Given the description of an element on the screen output the (x, y) to click on. 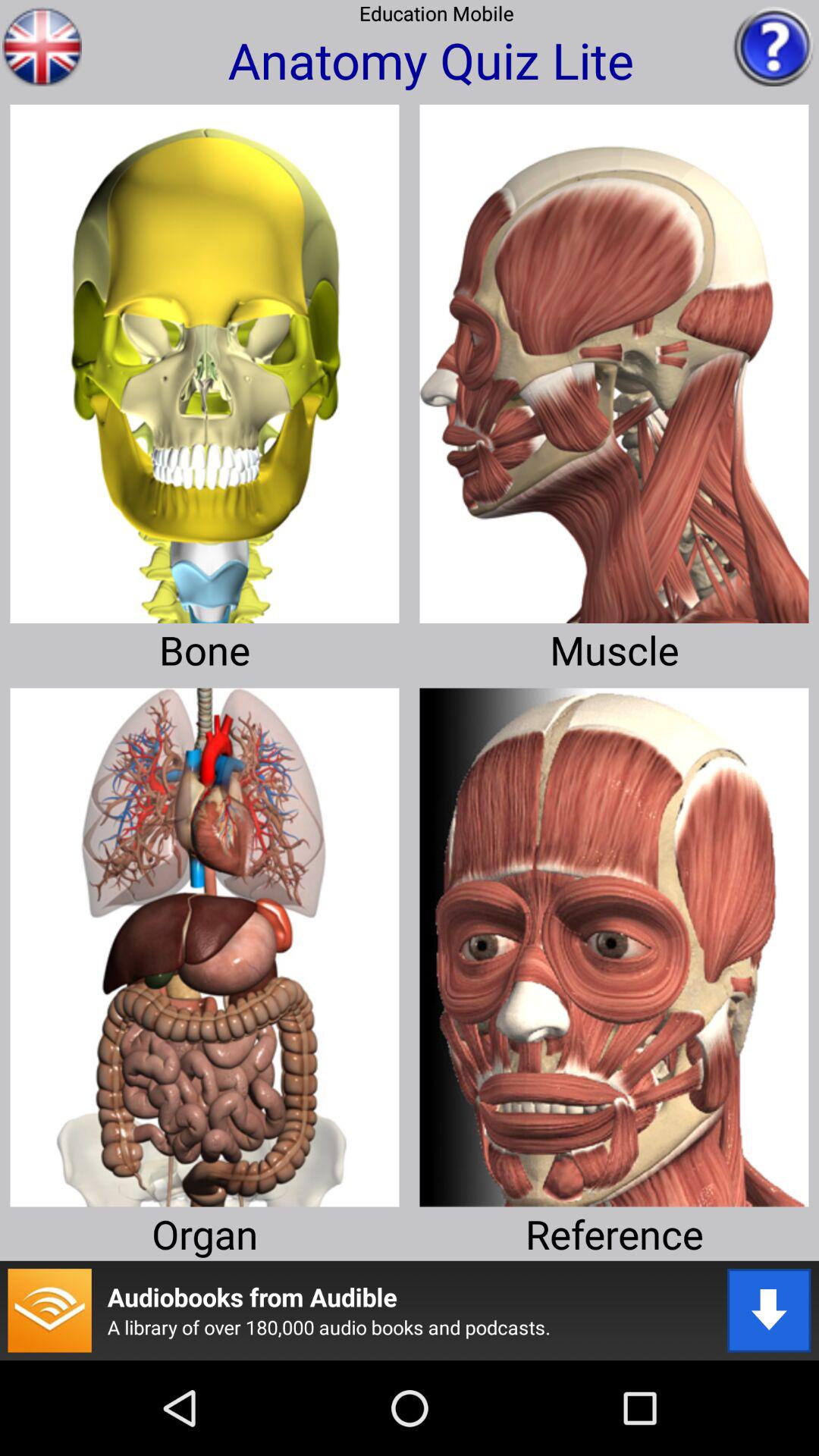
go to reference section (613, 941)
